Given the description of an element on the screen output the (x, y) to click on. 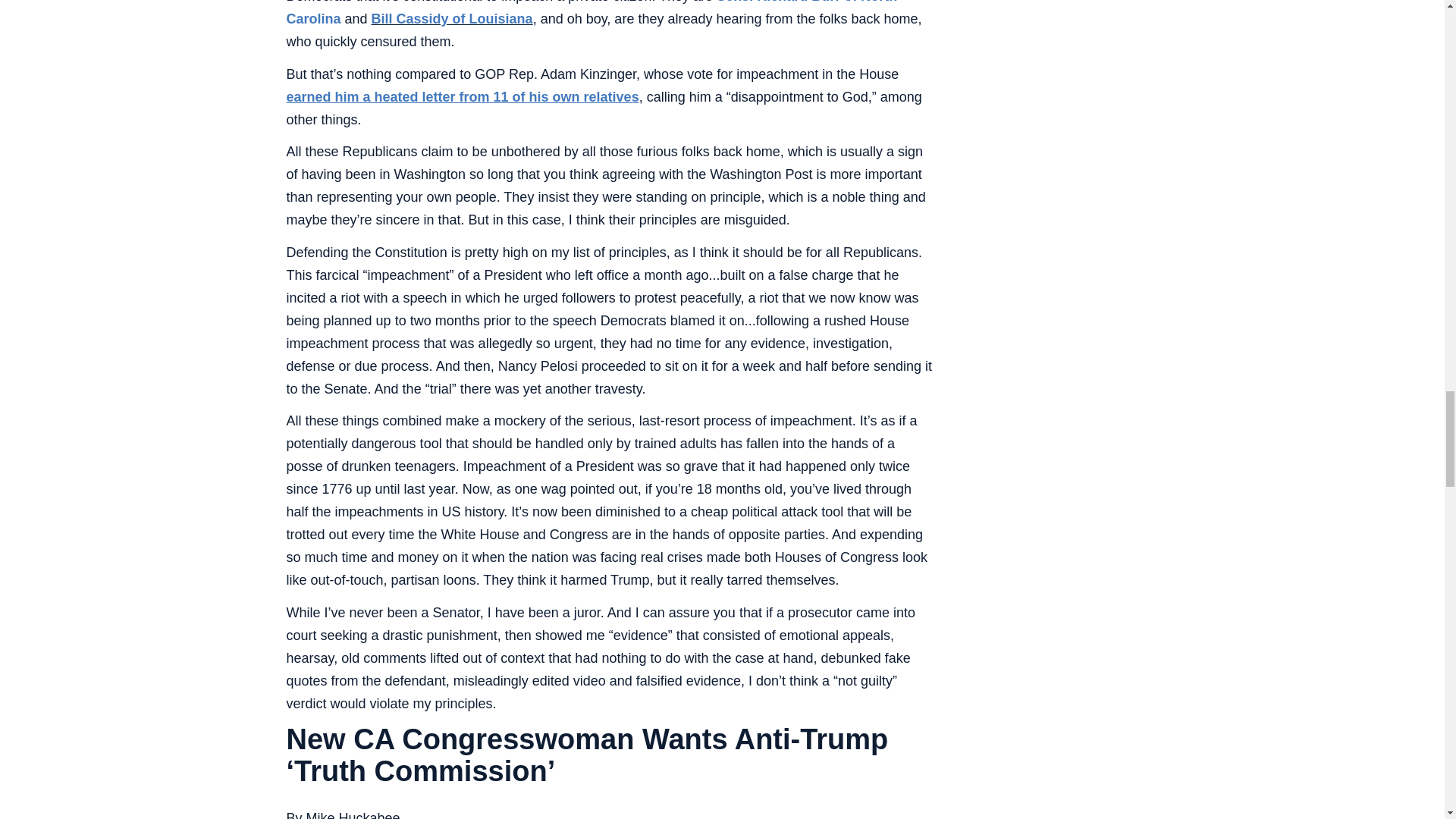
Bill Cassidy of Louisiana (451, 18)
Sens. Richard Burr of North Carolina (592, 13)
earned him a heated letter from 11 of his own relatives (462, 96)
